Given the description of an element on the screen output the (x, y) to click on. 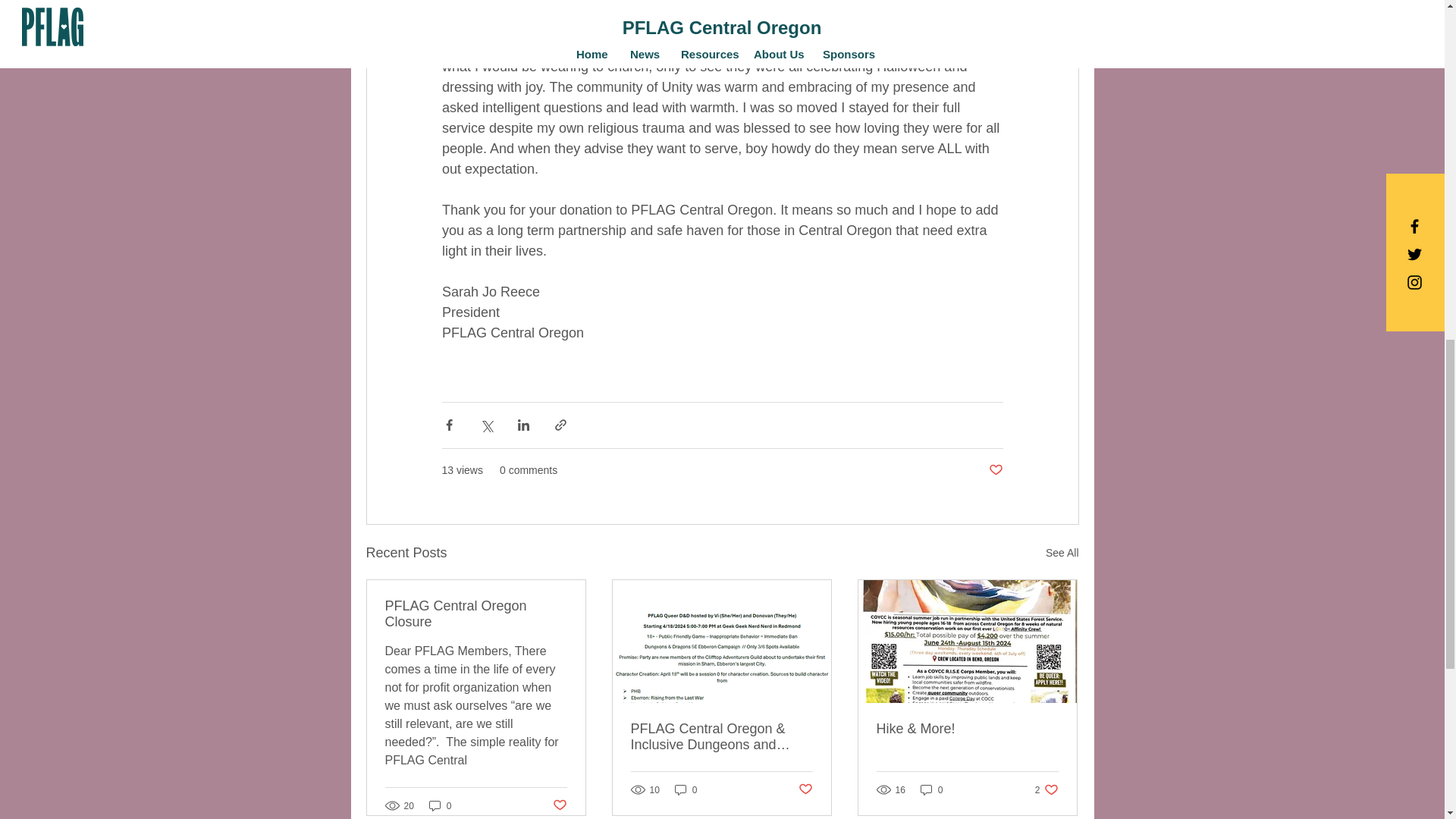
Post not marked as liked (558, 805)
Post not marked as liked (804, 789)
Post not marked as liked (995, 470)
PFLAG Central Oregon Closure (476, 613)
See All (1061, 553)
0 (931, 789)
0 (685, 789)
0 (440, 805)
